Given the description of an element on the screen output the (x, y) to click on. 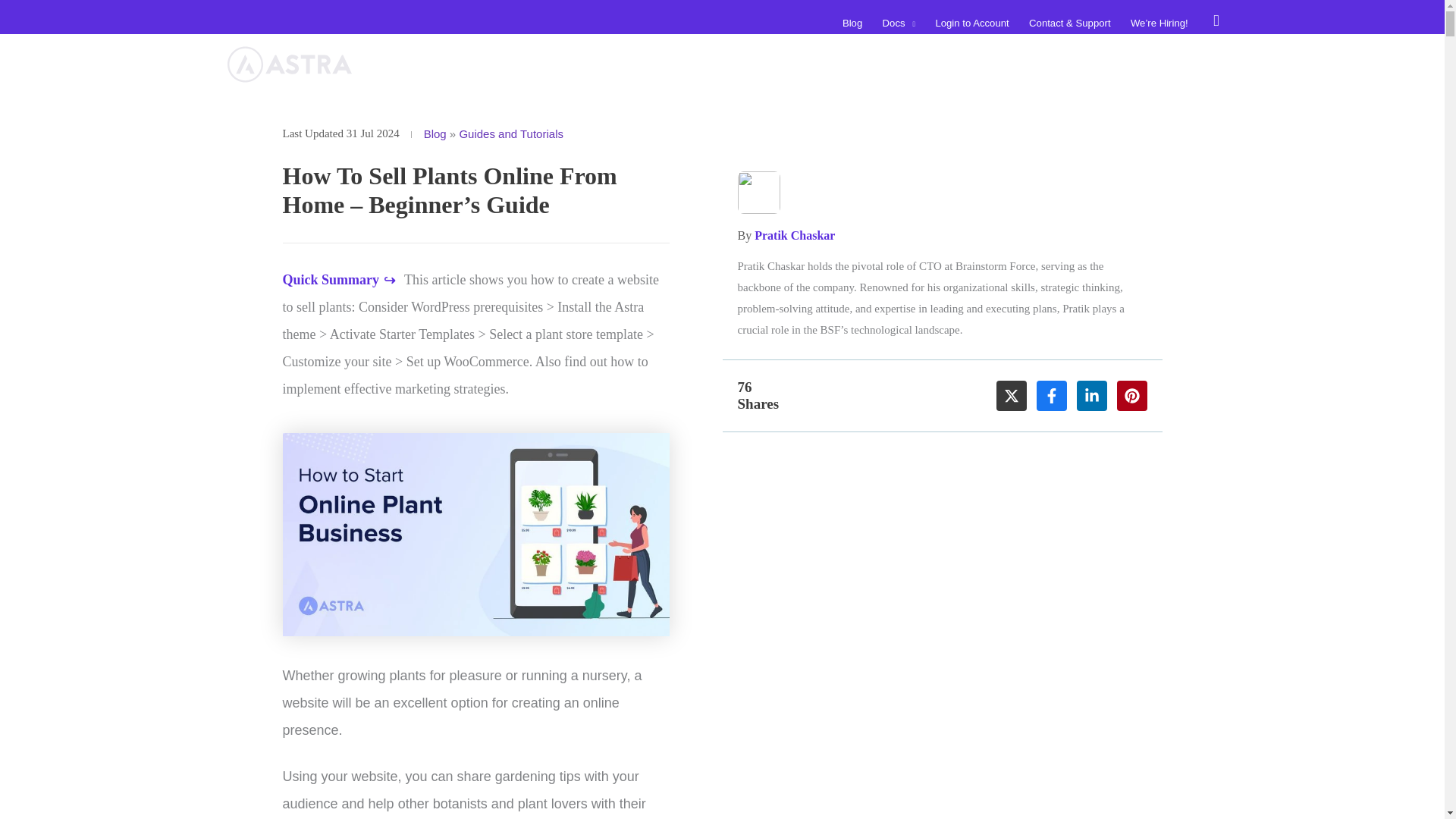
WooCommerce (893, 63)
Pricing (1058, 63)
DOWNLOAD (1160, 64)
Login to Account (971, 22)
Testimonials (987, 63)
Blog (434, 133)
Features (809, 63)
Guides and Tutorials (510, 133)
Docs (898, 22)
Blog (852, 22)
